Given the description of an element on the screen output the (x, y) to click on. 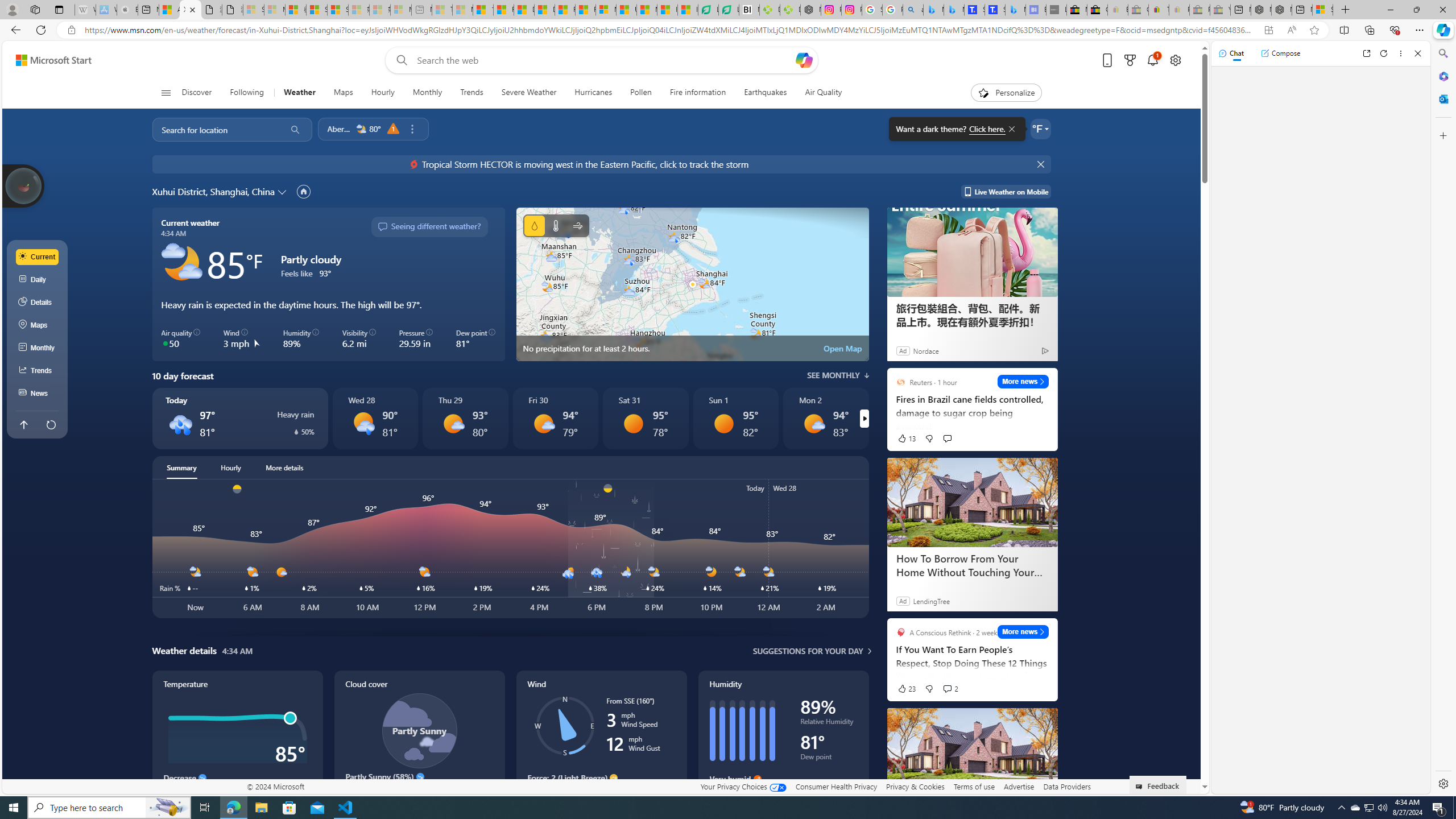
Class: BubbleMessageCloseIcon-DS-EntryPoint1-1 (1010, 128)
Notifications (1152, 60)
More news (1022, 631)
Foo BAR | Trusted Community Engagement and Contributions (584, 9)
Air Quality (824, 92)
Consumer Health Privacy (835, 786)
Weather (299, 92)
Current (37, 256)
How To Borrow From Your Home Without Touching Your Mortgage (972, 752)
Privacy & Cookies (915, 785)
